Given the description of an element on the screen output the (x, y) to click on. 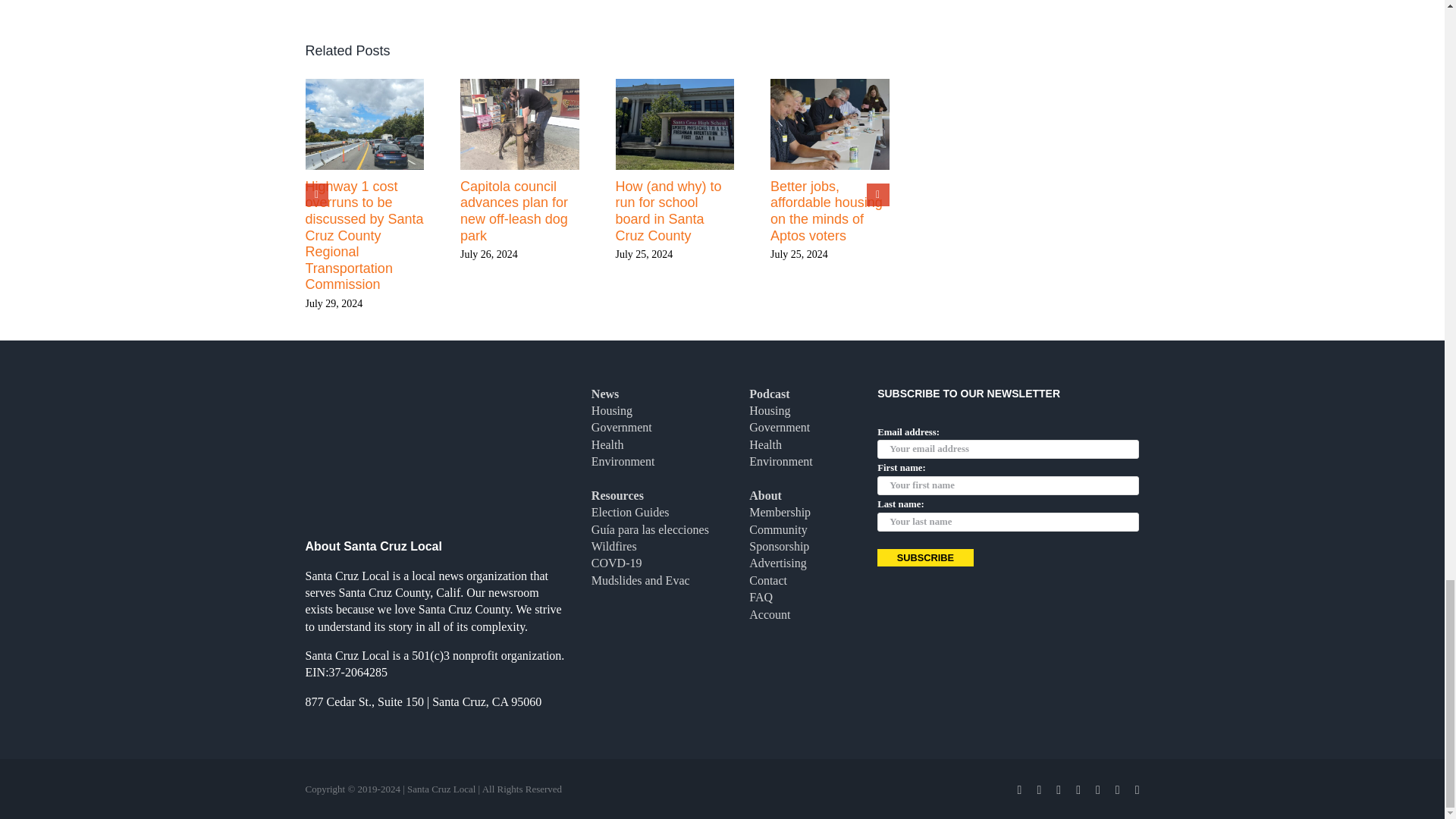
Better jobs, affordable housing on the minds of Aptos voters (826, 211)
Capitola council advances plan for new off-leash dog park (513, 211)
